Given the description of an element on the screen output the (x, y) to click on. 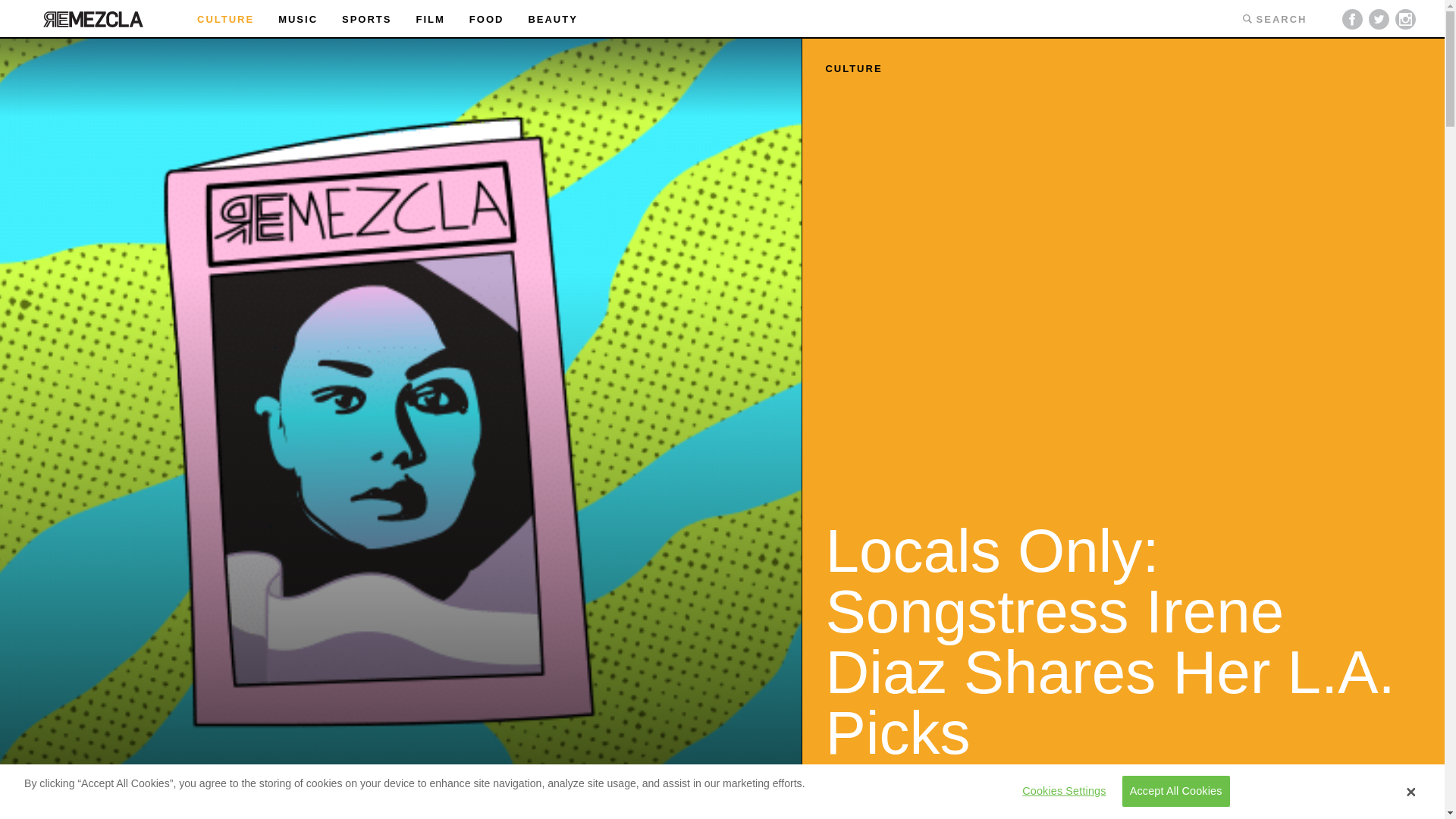
MUSIC (297, 19)
SPORTS (366, 19)
CULTURE (853, 68)
BY JENNIFER VELEZ (887, 788)
SEARCH (1274, 18)
FOOD (485, 19)
BEAUTY (551, 19)
CULTURE (224, 19)
